Given the description of an element on the screen output the (x, y) to click on. 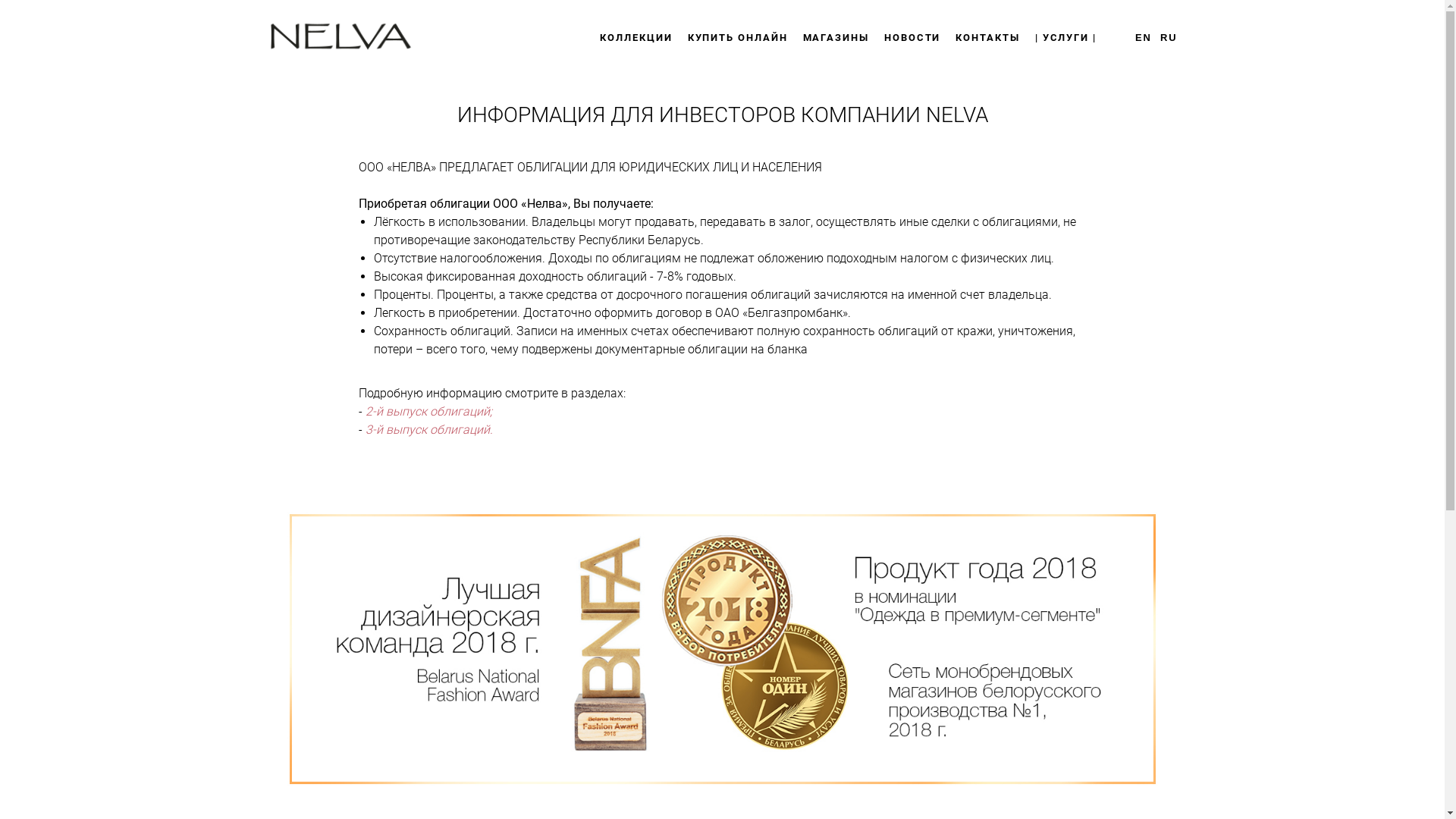
RU Element type: text (1168, 37)
EN Element type: text (1143, 37)
